Given the description of an element on the screen output the (x, y) to click on. 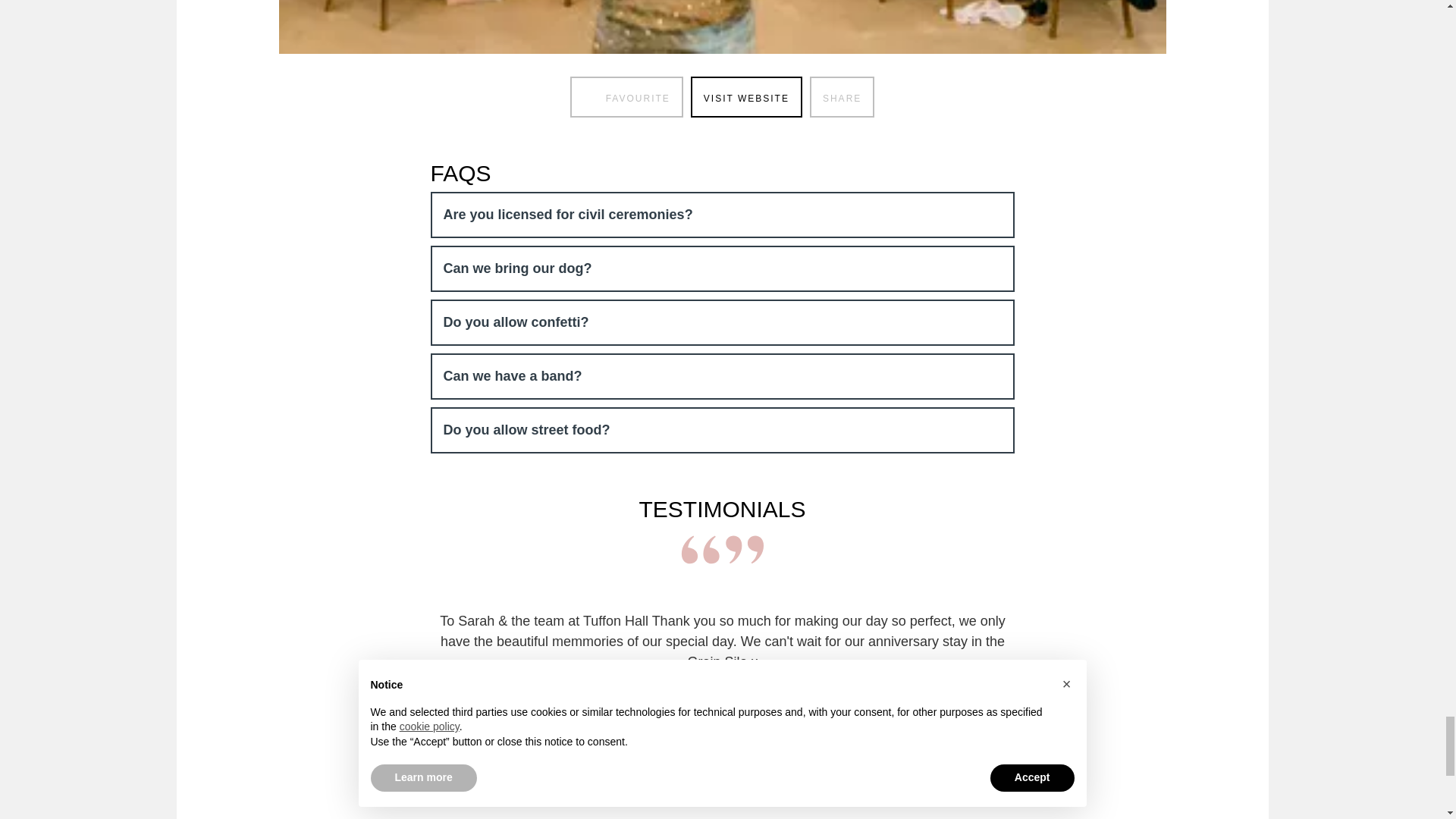
FAVOURITE (626, 96)
previous slide (447, 771)
SHARE (842, 96)
next slide (996, 771)
VISIT WEBSITE (746, 96)
